Given the description of an element on the screen output the (x, y) to click on. 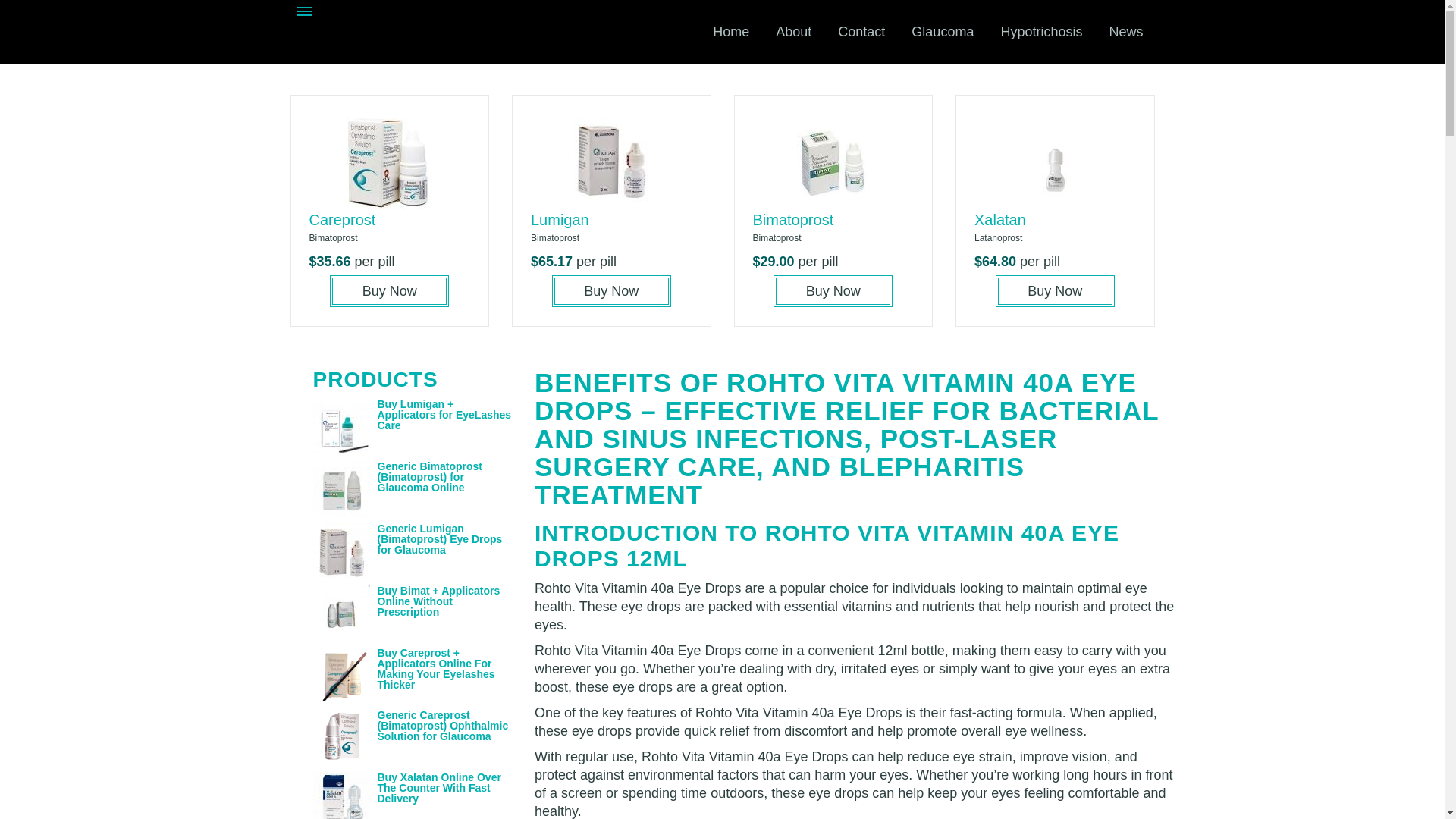
Buy Now (1055, 290)
Buy Now (611, 290)
Bimatoprost (792, 219)
Buy Now (389, 290)
Buy Xalatan Online Over The Counter With Fast Delivery (438, 787)
About (793, 32)
Buy Now (832, 290)
Xalatan (1000, 219)
Menu (304, 13)
Home (730, 32)
News (1125, 32)
Hypotrichosis (1040, 32)
Glaucoma (942, 32)
Careprost (341, 219)
Lumigan (560, 219)
